Given the description of an element on the screen output the (x, y) to click on. 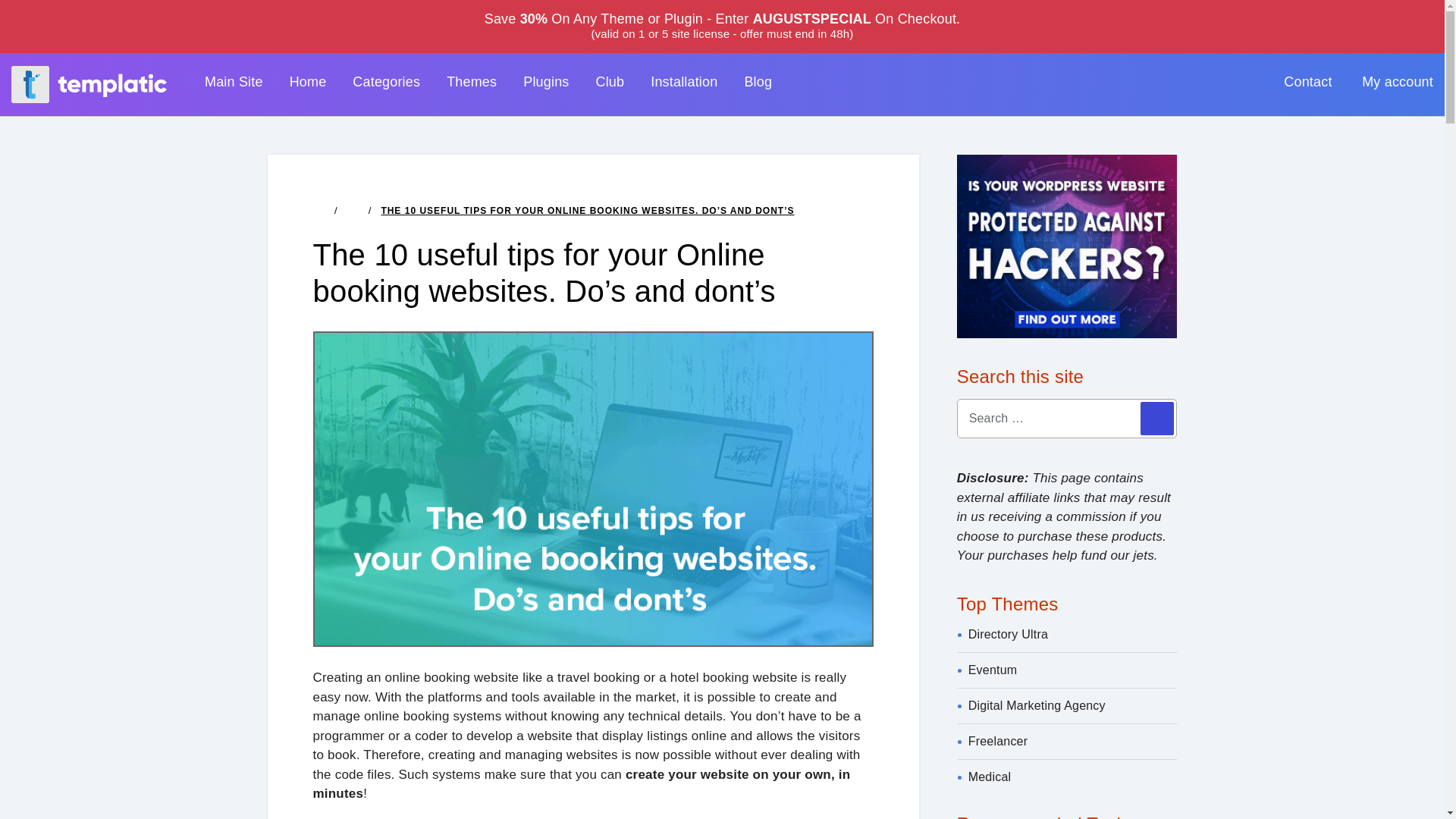
Templatic (89, 85)
Categories (386, 81)
Search (1156, 418)
Search (1156, 418)
Search (1156, 418)
Installation (683, 81)
Home (307, 81)
OTHER POSTS (352, 210)
My account (1396, 81)
Main Site (234, 81)
